Given the description of an element on the screen output the (x, y) to click on. 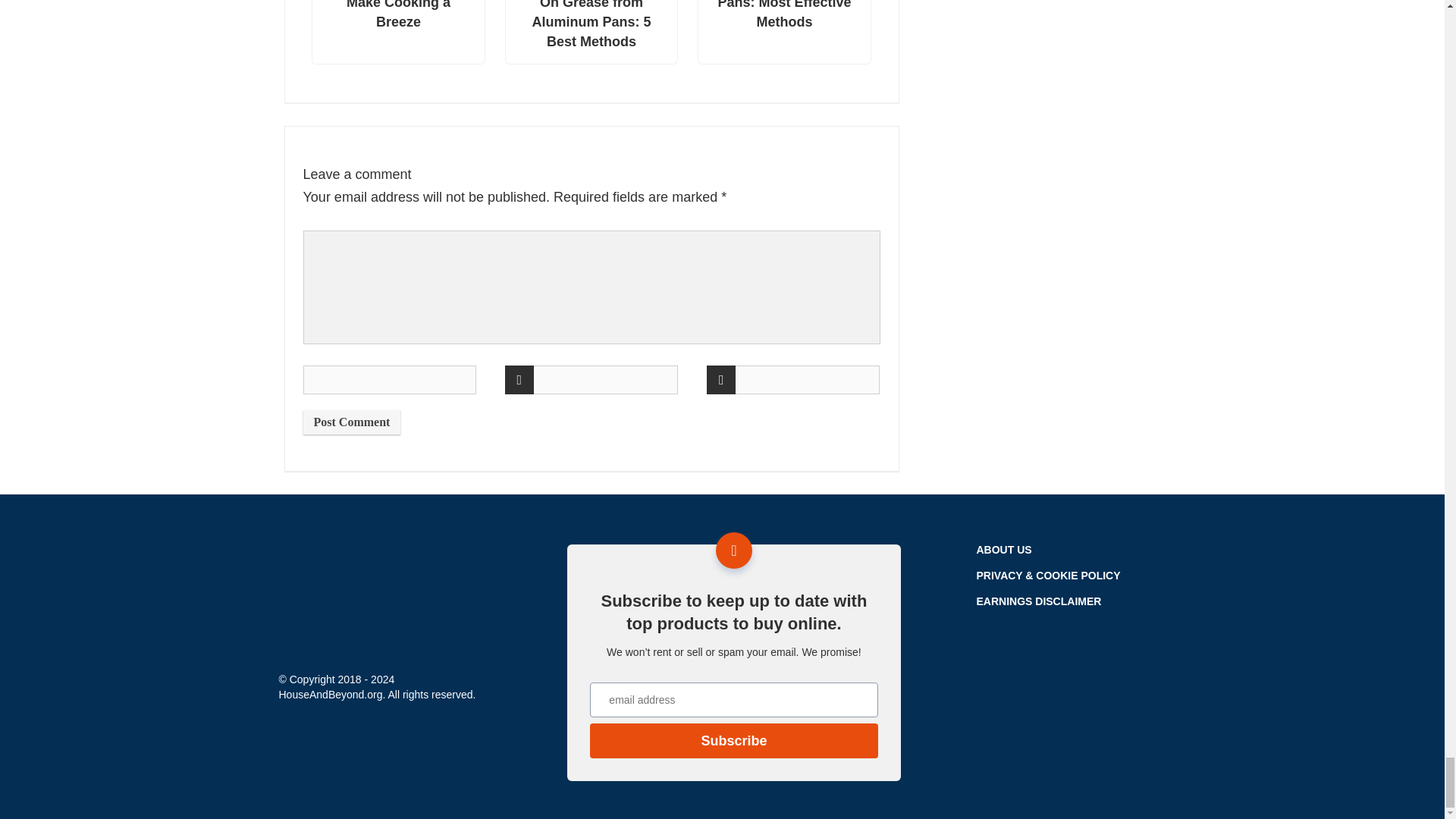
DMCA.com Protection Status (1090, 741)
